Given the description of an element on the screen output the (x, y) to click on. 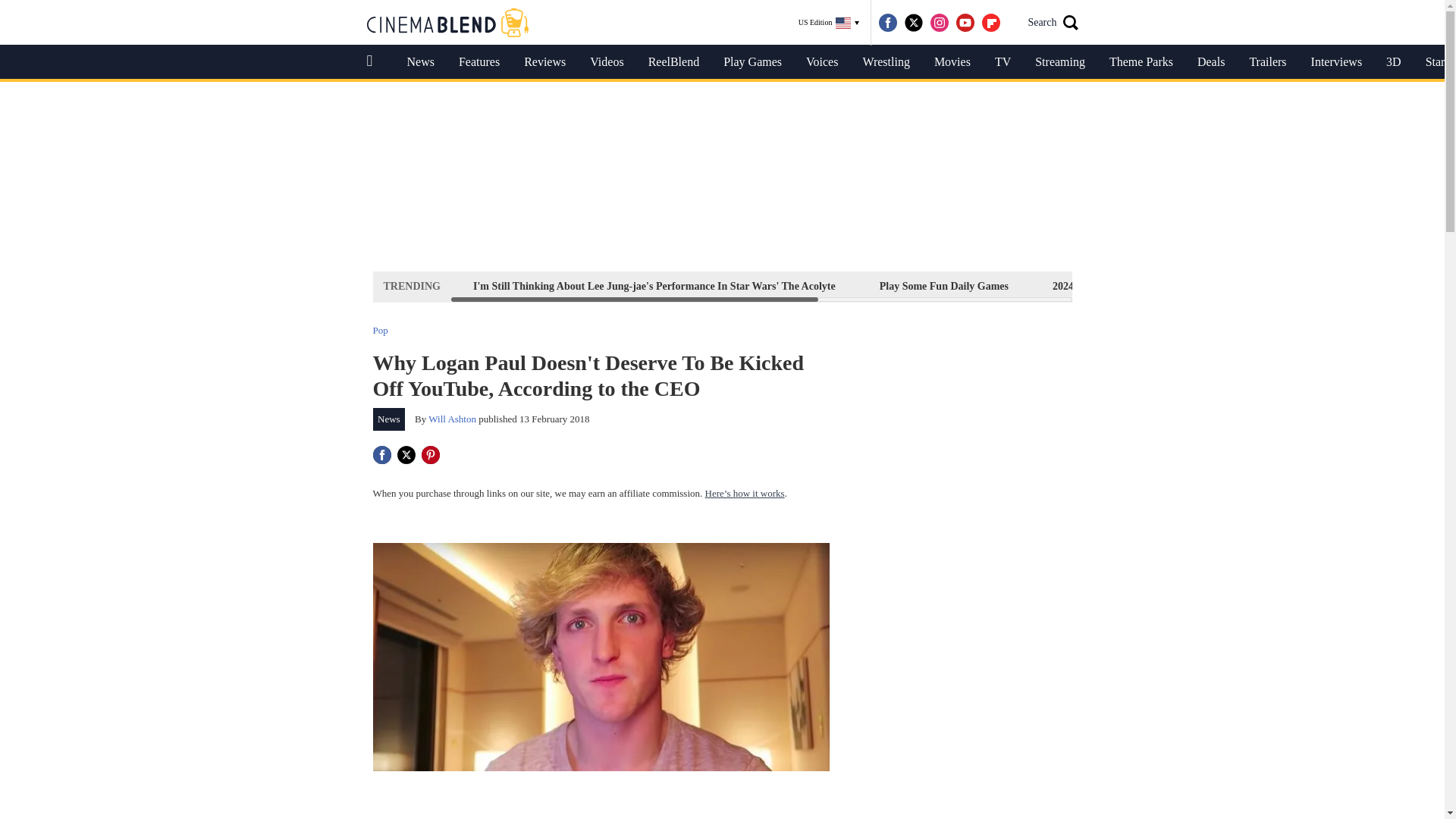
Play Games (752, 61)
Streaming (1060, 61)
Features (479, 61)
Movies (951, 61)
3D (1393, 61)
Voices (821, 61)
US Edition (828, 22)
Play Some Fun Daily Games (944, 286)
Upcoming Marvel Movies (1260, 286)
